Given the description of an element on the screen output the (x, y) to click on. 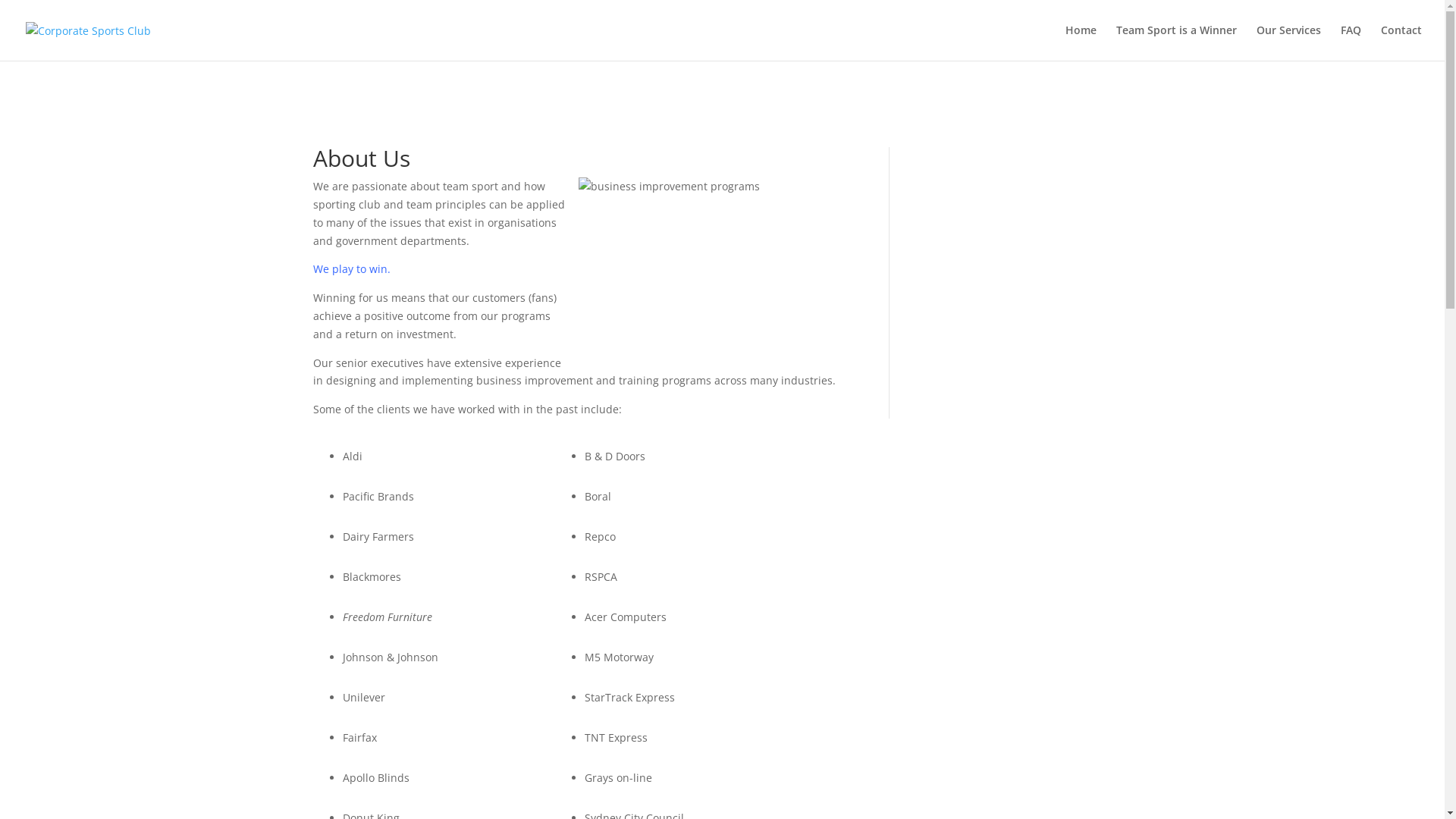
Home Element type: text (1080, 42)
Our Services Element type: text (1288, 42)
Contact Element type: text (1400, 42)
Team Sport is a Winner Element type: text (1176, 42)
FAQ Element type: text (1350, 42)
